Given the description of an element on the screen output the (x, y) to click on. 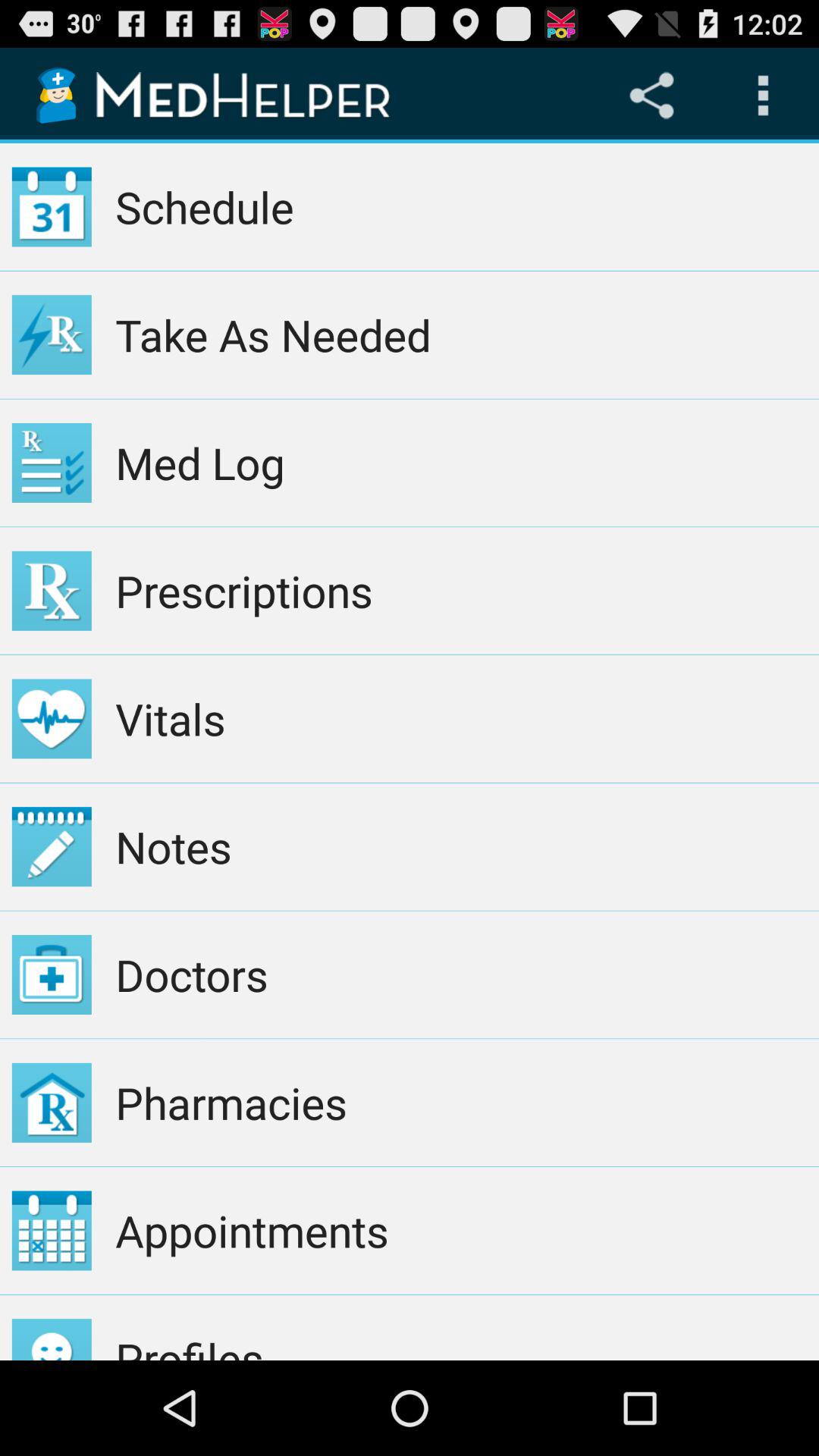
choose the med log (461, 462)
